Given the description of an element on the screen output the (x, y) to click on. 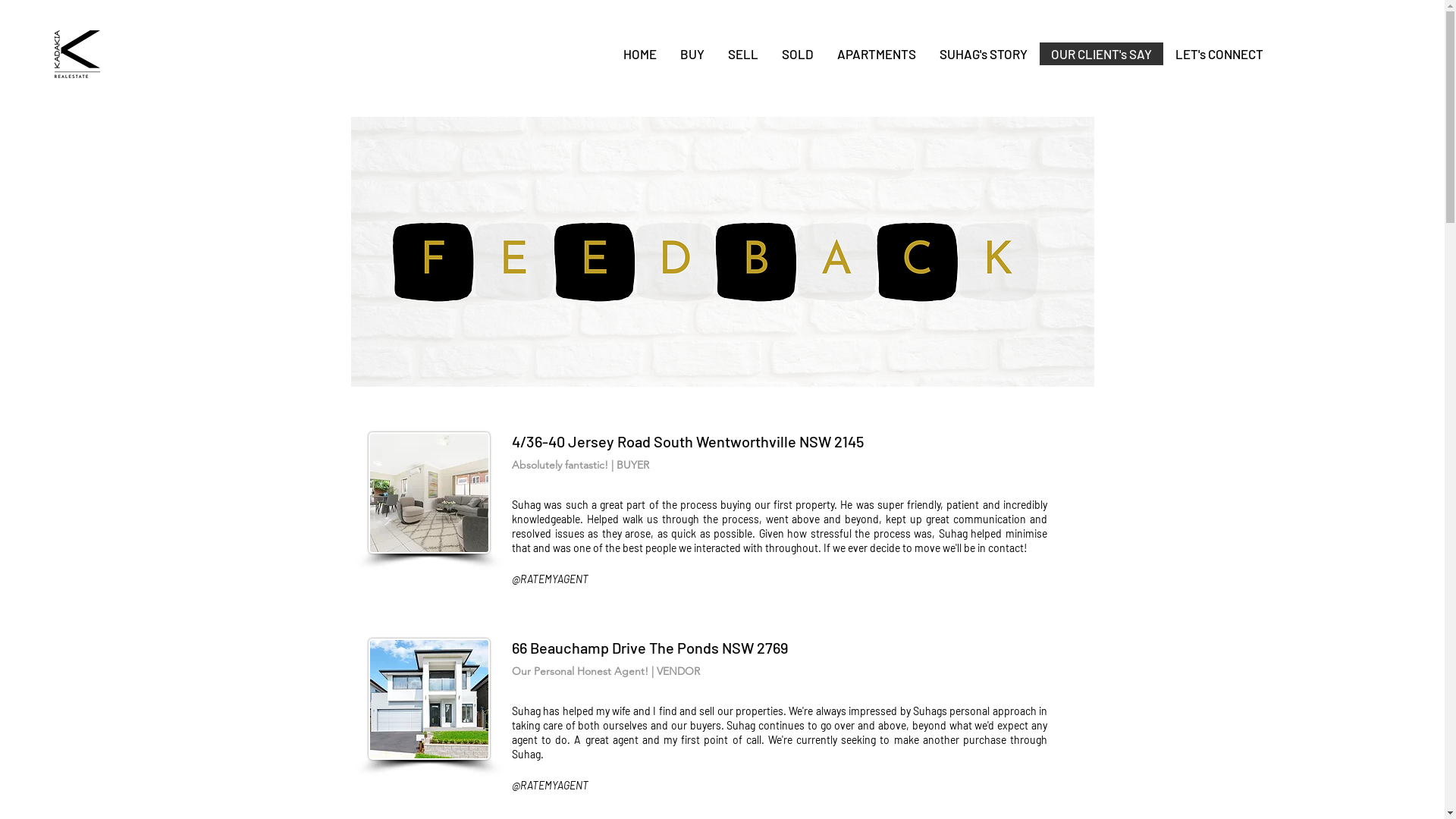
SOLD Element type: text (796, 53)
BUY Element type: text (691, 53)
LET's CONNECT Element type: text (1218, 53)
SUHAG's STORY Element type: text (982, 53)
SELL Element type: text (742, 53)
HOME Element type: text (639, 53)
APARTMENTS Element type: text (876, 53)
OUR CLIENT's SAY Element type: text (1100, 53)
